Given the description of an element on the screen output the (x, y) to click on. 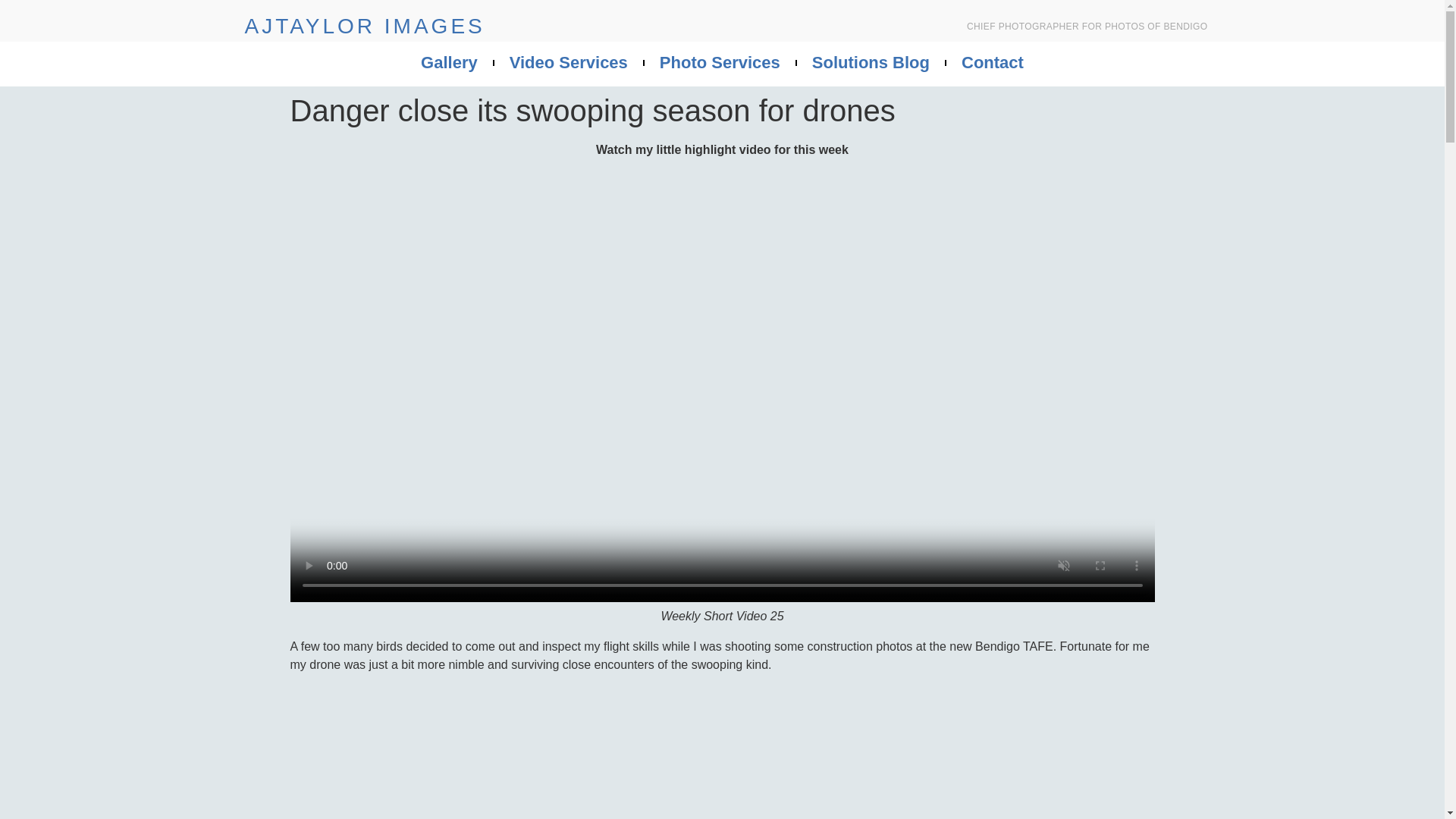
Photo Services (719, 62)
Gallery (449, 62)
Solutions Blog (870, 62)
Contact (992, 62)
Video Services (568, 62)
